Given the description of an element on the screen output the (x, y) to click on. 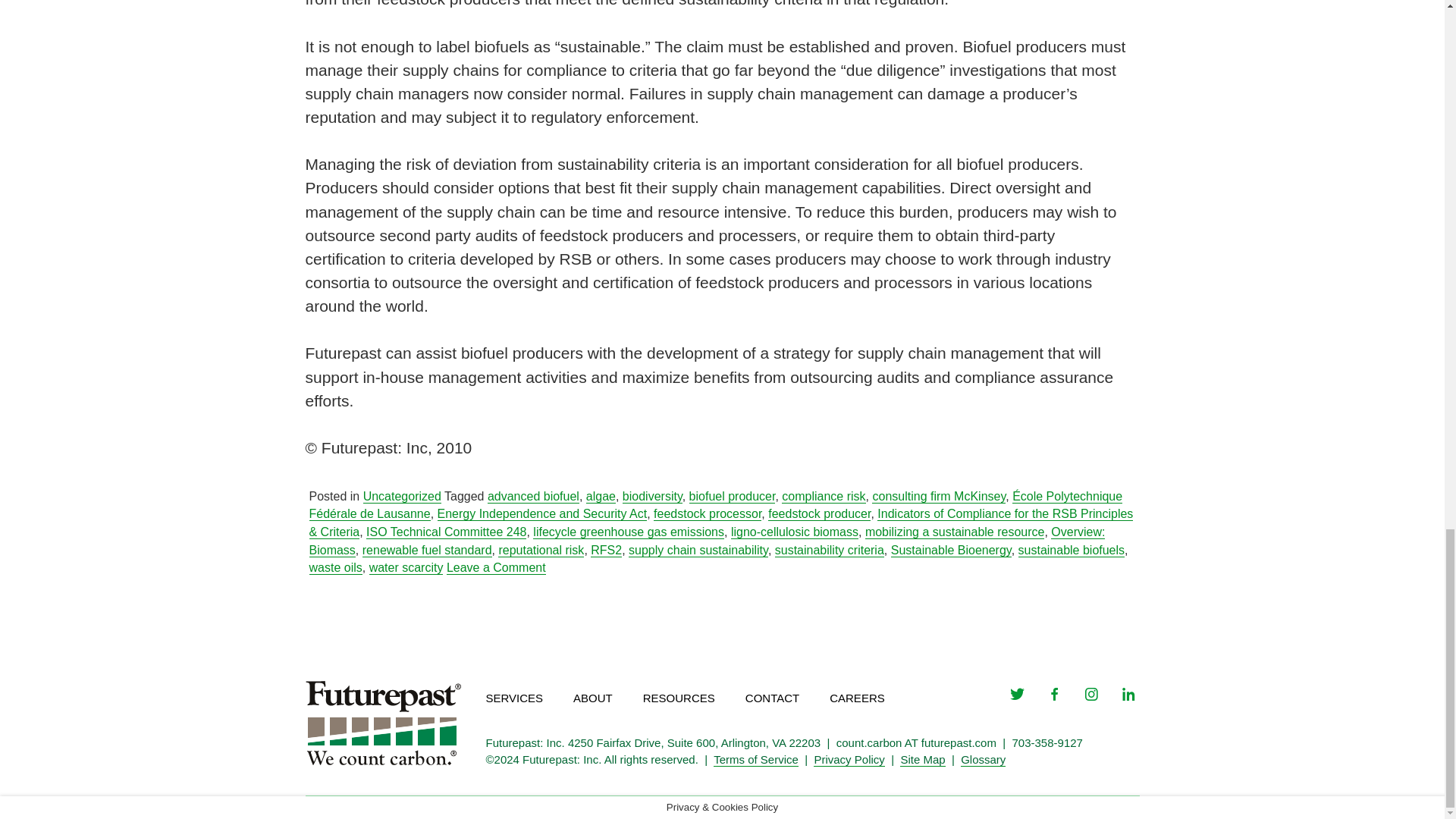
biofuel producer (732, 496)
Uncategorized (401, 496)
advanced biofuel (533, 496)
consulting firm McKinsey (939, 496)
compliance risk (822, 496)
biodiversity (652, 496)
algae (600, 496)
